Given the description of an element on the screen output the (x, y) to click on. 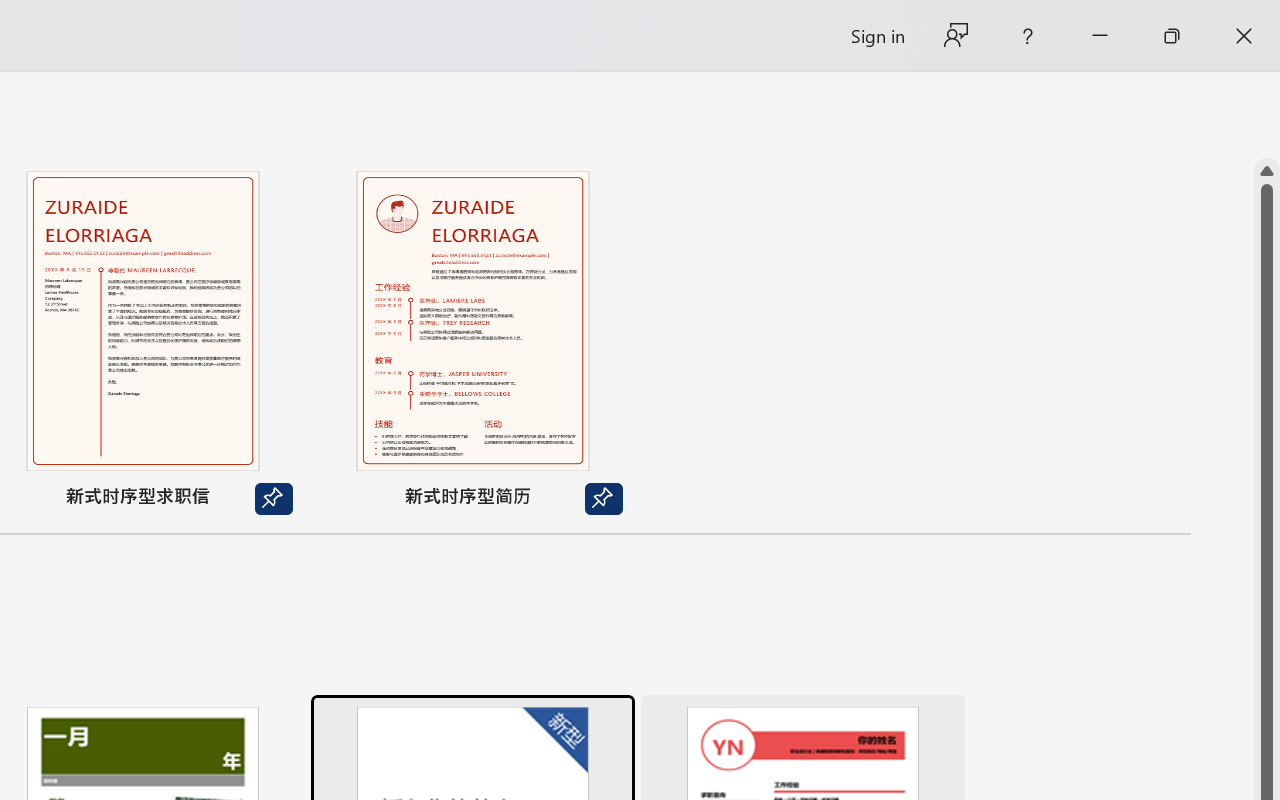
Line up (1267, 171)
Unpin from list (603, 499)
